Given the description of an element on the screen output the (x, y) to click on. 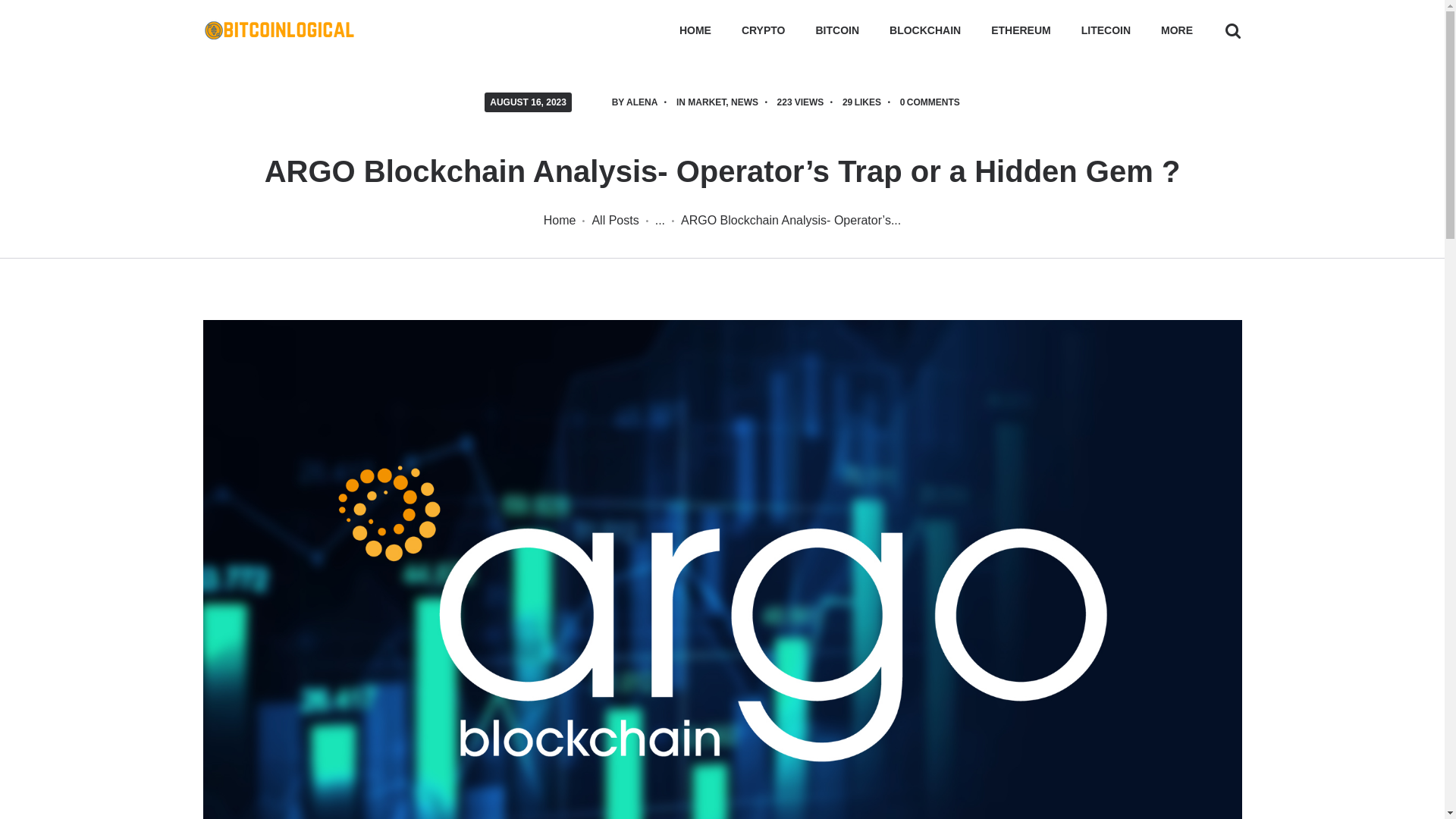
Like (869, 102)
CRYPTO (763, 30)
BITCOIN (837, 30)
ETHEREUM (1020, 30)
0COMMENTS (929, 102)
MARKET (706, 102)
LITECOIN (1105, 30)
29LIKES (869, 102)
Home (559, 220)
ALENA (642, 102)
BLOCKCHAIN (925, 30)
All Posts (615, 219)
HOME (694, 30)
NEWS (744, 102)
MORE (1176, 30)
